Given the description of an element on the screen output the (x, y) to click on. 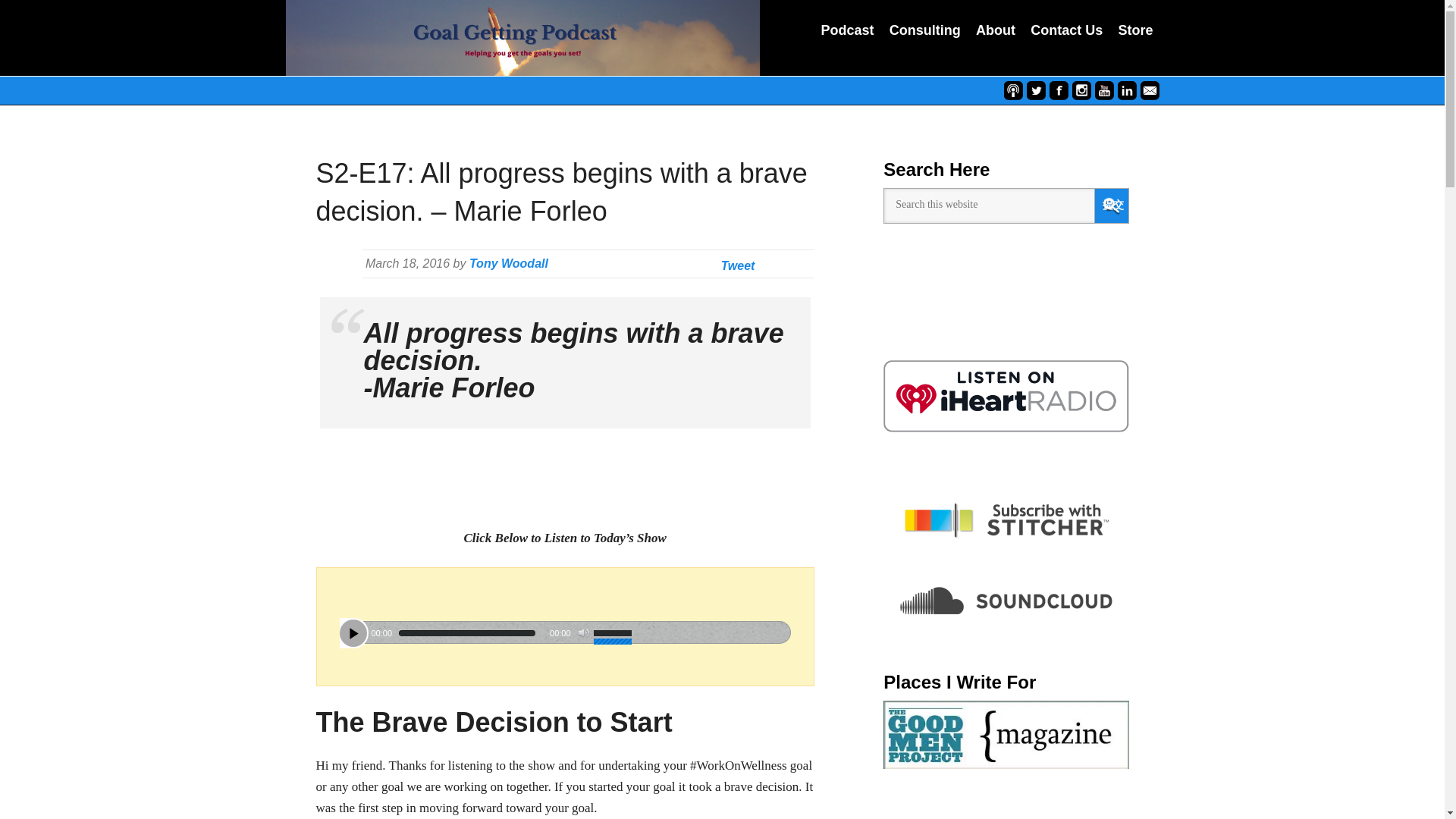
Consulting (924, 32)
Posts by Tony Woodall (508, 263)
Tony Woodall (508, 263)
Subscribe on Soundcloud (1005, 600)
Mute (583, 633)
Play (352, 633)
Subscribe on Stitcher (1005, 519)
About (995, 32)
Podcast (846, 32)
Contact Us (1066, 32)
Tweet (737, 265)
Store (1135, 32)
Goal Getting Podcast (521, 38)
The Good Men Project magazine (1005, 735)
